Given the description of an element on the screen output the (x, y) to click on. 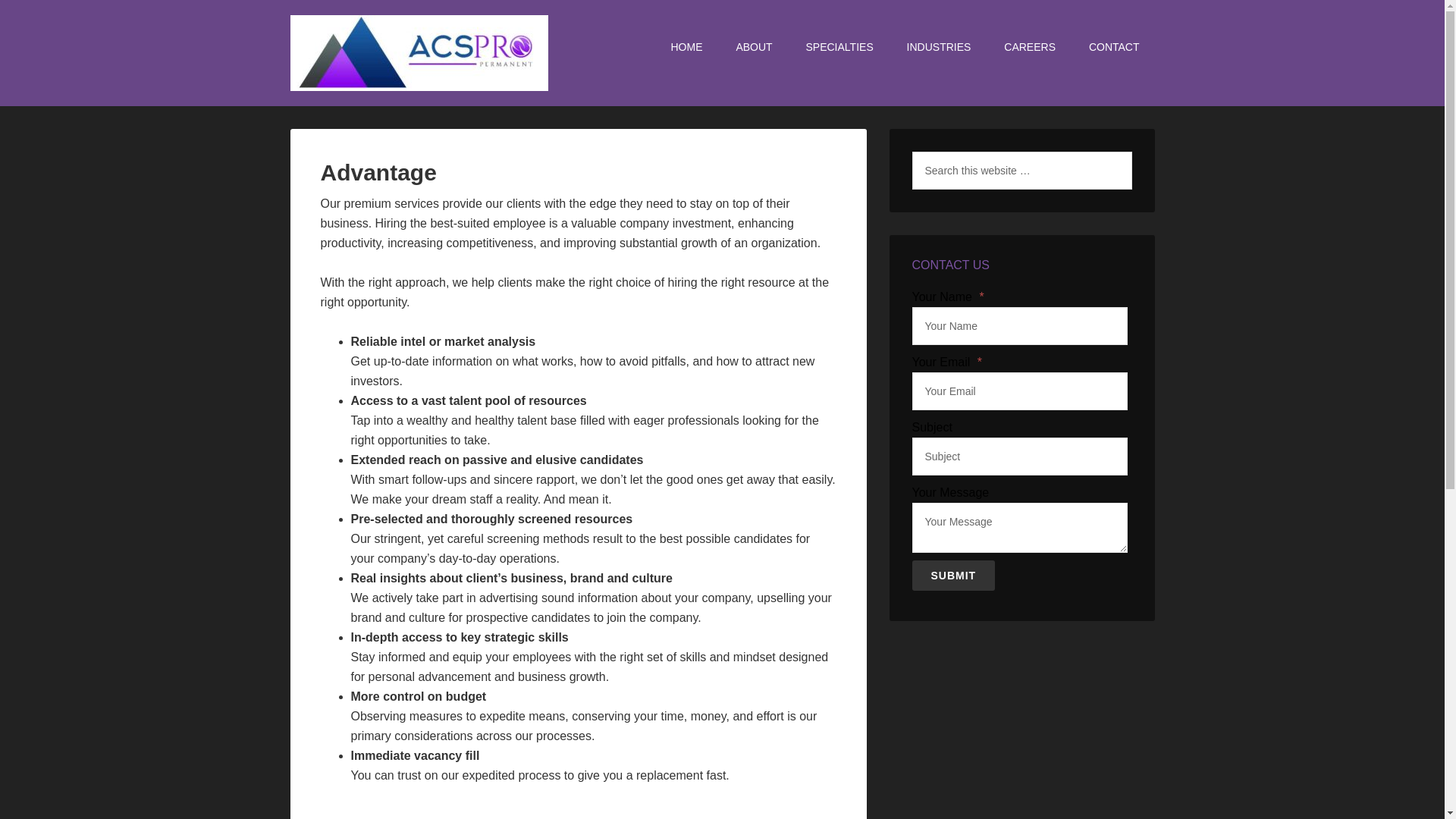
SPECIALTIES (839, 46)
ABOUT (753, 46)
CONTACT (1114, 46)
SUBMIT (952, 575)
INDUSTRIES (939, 46)
HOME (686, 46)
CAREERS (1029, 46)
ACS PRO PERMANENT (418, 52)
